Given the description of an element on the screen output the (x, y) to click on. 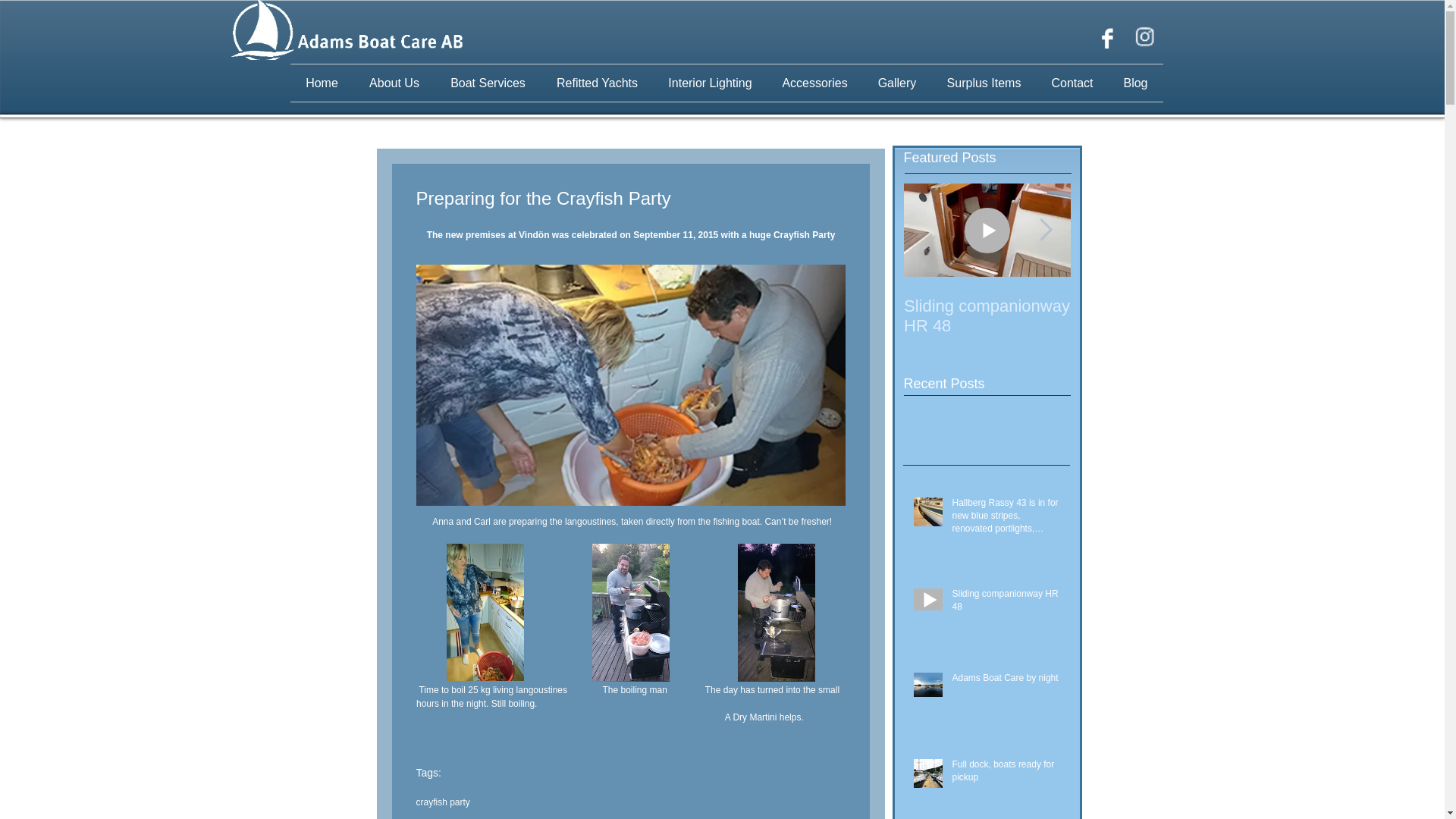
Home (321, 82)
Contact (1071, 82)
Facebook-gif.gif (1104, 36)
Instagram-5.gif (1144, 37)
Blog (1135, 82)
Gallery (897, 82)
Interior Lighting (710, 82)
crayfish party (441, 801)
Surplus Items (983, 82)
Aams Boat Care Refit-Home (345, 29)
